Given the description of an element on the screen output the (x, y) to click on. 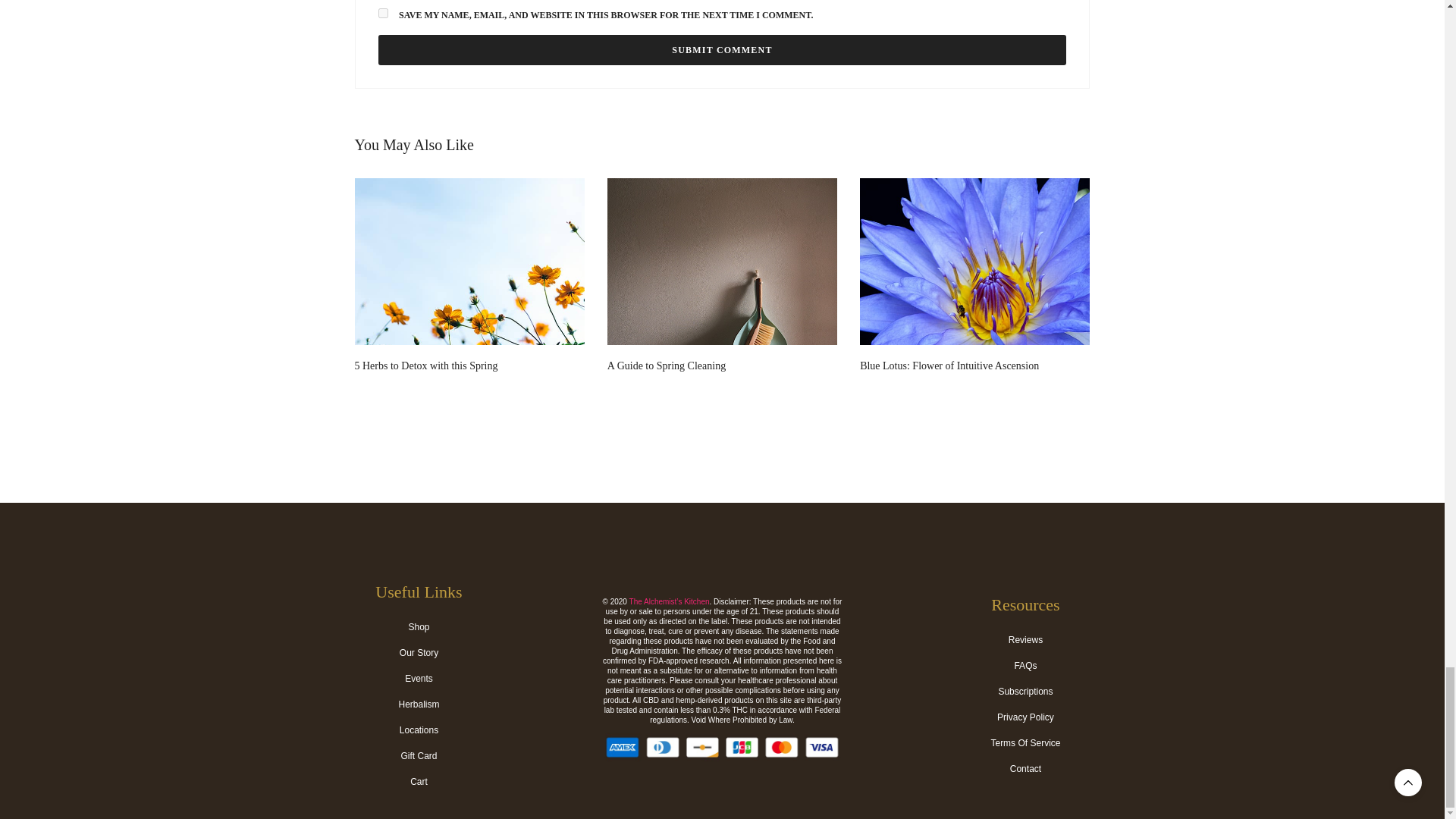
A Guide to Spring Cleaning (666, 365)
Submit Comment (721, 50)
yes (382, 13)
Blue Lotus: Flower of Intuitive Ascension (949, 365)
5 Herbs to Detox with this Spring (426, 365)
Blue Lotus: Flower of Intuitive Ascension (974, 292)
A Guide to Spring Cleaning (722, 292)
5 Herbs to Detox with this Spring (470, 292)
